Given the description of an element on the screen output the (x, y) to click on. 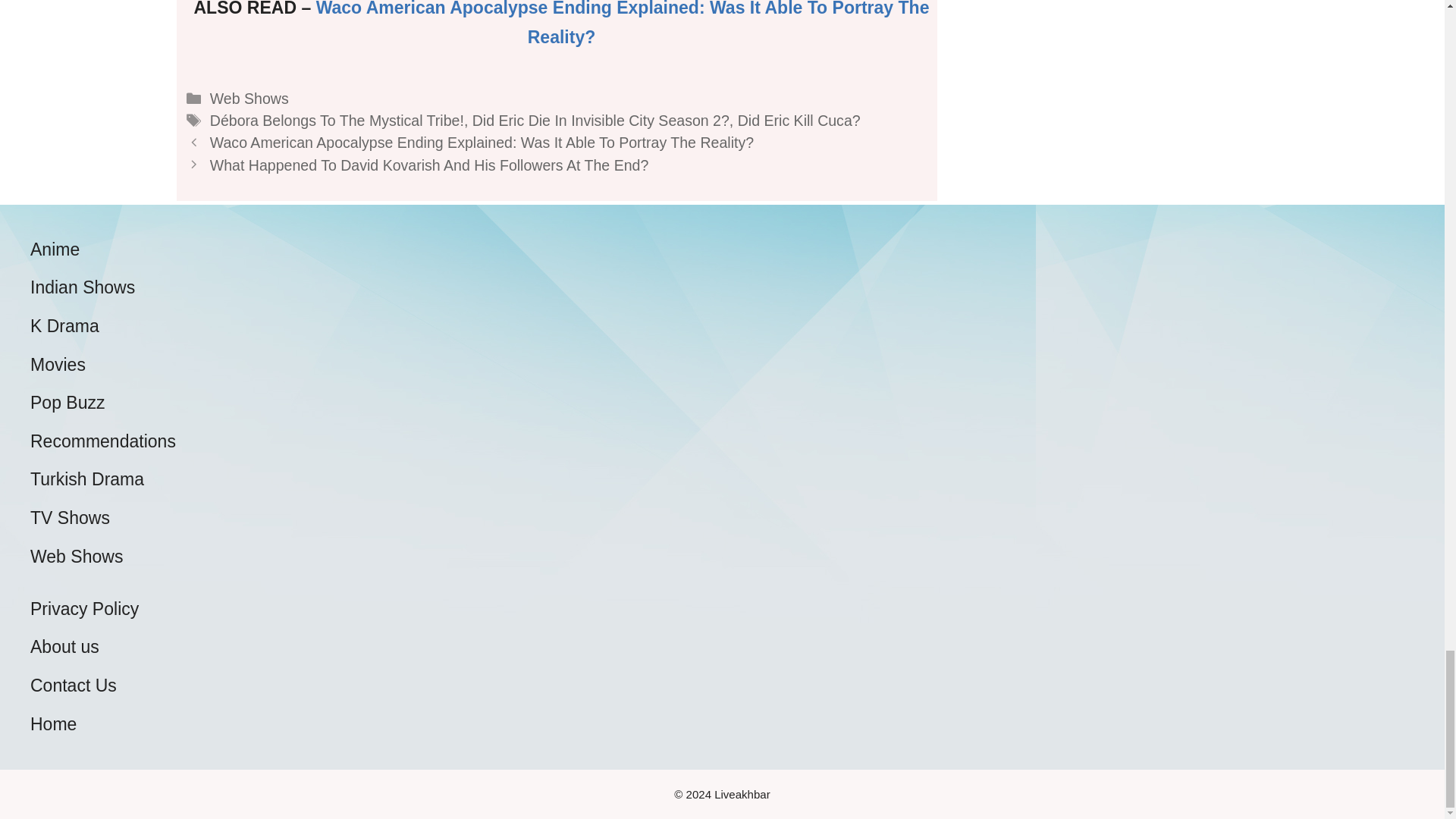
Web Shows (248, 98)
Did Eric Die In Invisible City Season 2? (600, 120)
Did Eric Kill Cuca? (799, 120)
